Given the description of an element on the screen output the (x, y) to click on. 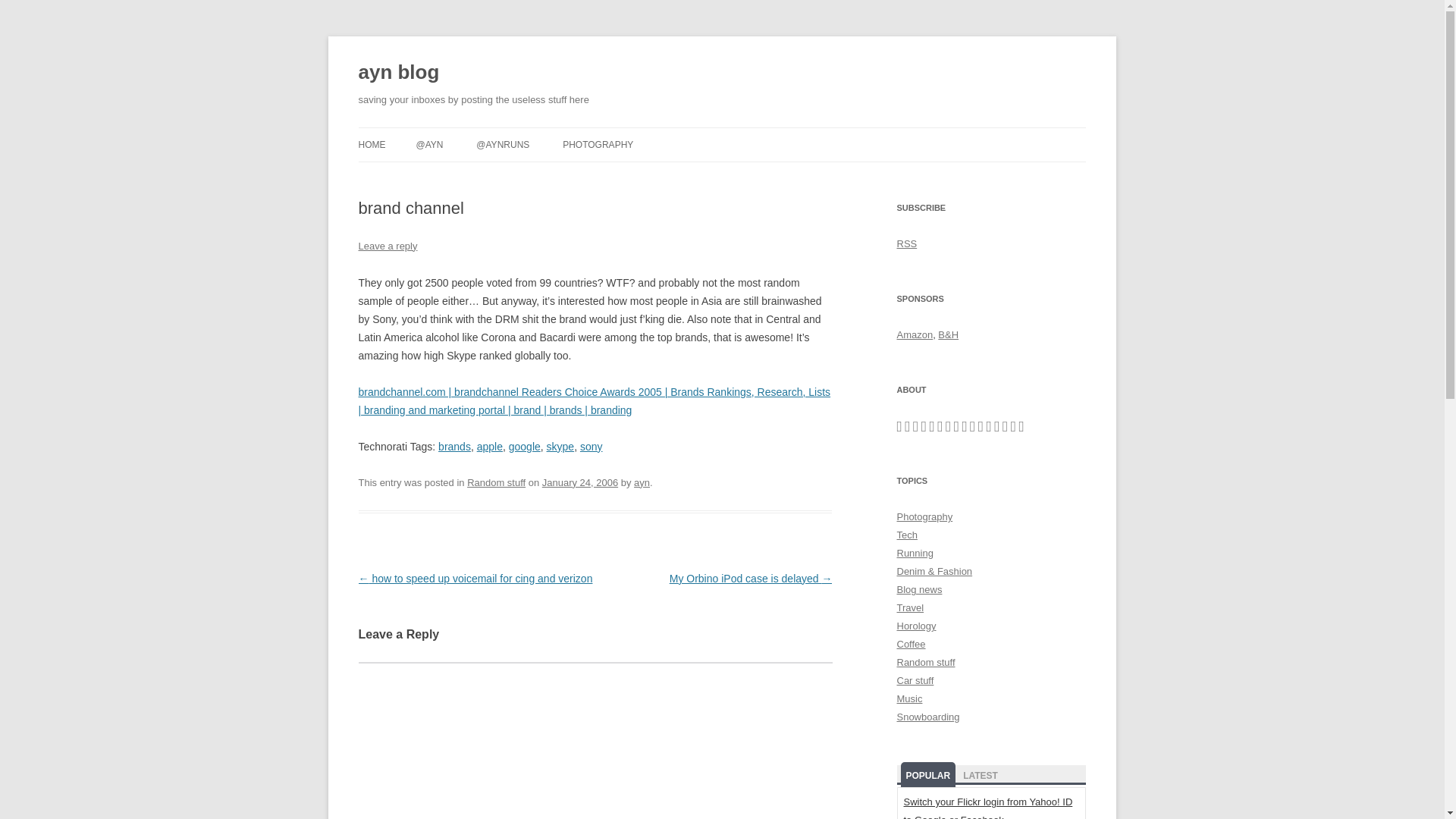
Random stuff (496, 482)
Amazon (914, 334)
ayn blog (398, 72)
Leave a reply (387, 245)
apple (489, 446)
PHOTOGRAPHY (597, 144)
Comment Form (594, 740)
skype (561, 446)
brands (454, 446)
RSS (906, 243)
12:32 pm (579, 482)
January 24, 2006 (579, 482)
ayn (641, 482)
Photography (924, 516)
